Given the description of an element on the screen output the (x, y) to click on. 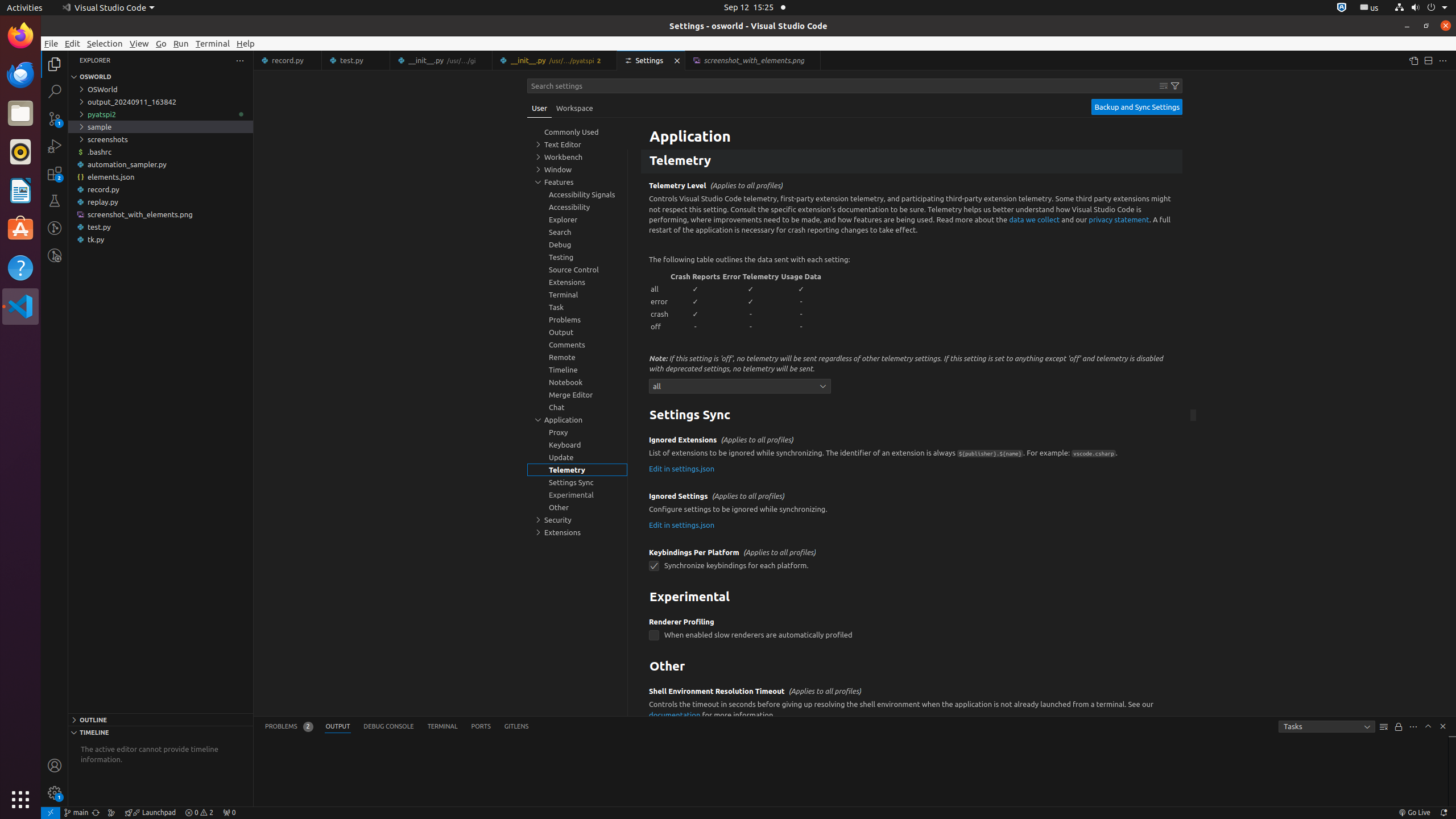
✓ Element type: table-cell (695, 288)
Views and More Actions... Element type: push-button (1413, 726)
Edit in settings.json: settingsSync.ignoredExtensions Element type: push-button (681, 468)
privacy statement Element type: link (1118, 218)
Clear Settings Search Input Element type: push-button (1163, 85)
